Given the description of an element on the screen output the (x, y) to click on. 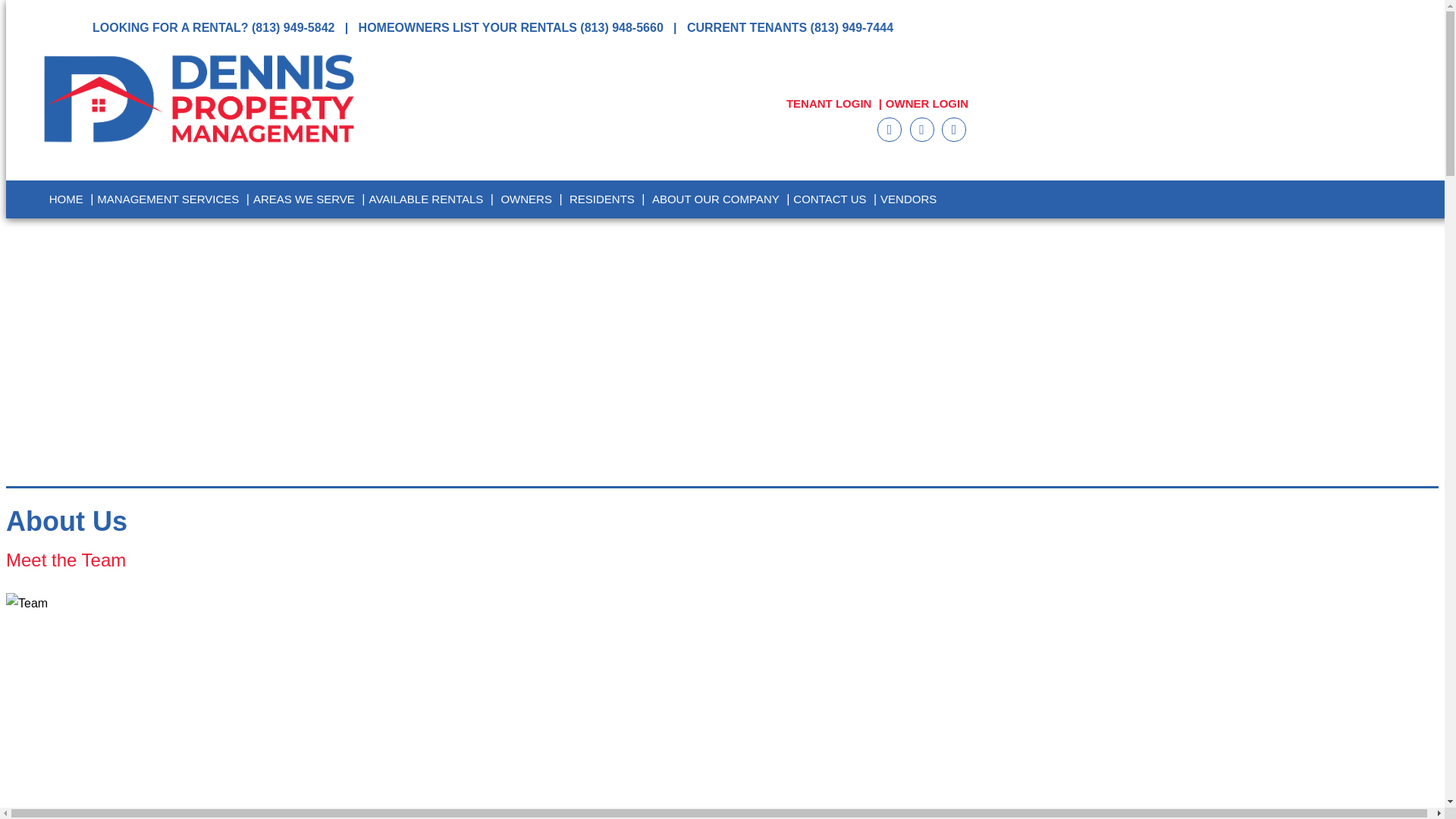
Twitter (922, 129)
MANAGEMENT SERVICES (167, 199)
Youtube (889, 129)
TENANT LOGIN (829, 103)
HOME (65, 199)
OWNER LOGIN (926, 103)
AREAS WE SERVE (304, 199)
Facebook (954, 129)
